Given the description of an element on the screen output the (x, y) to click on. 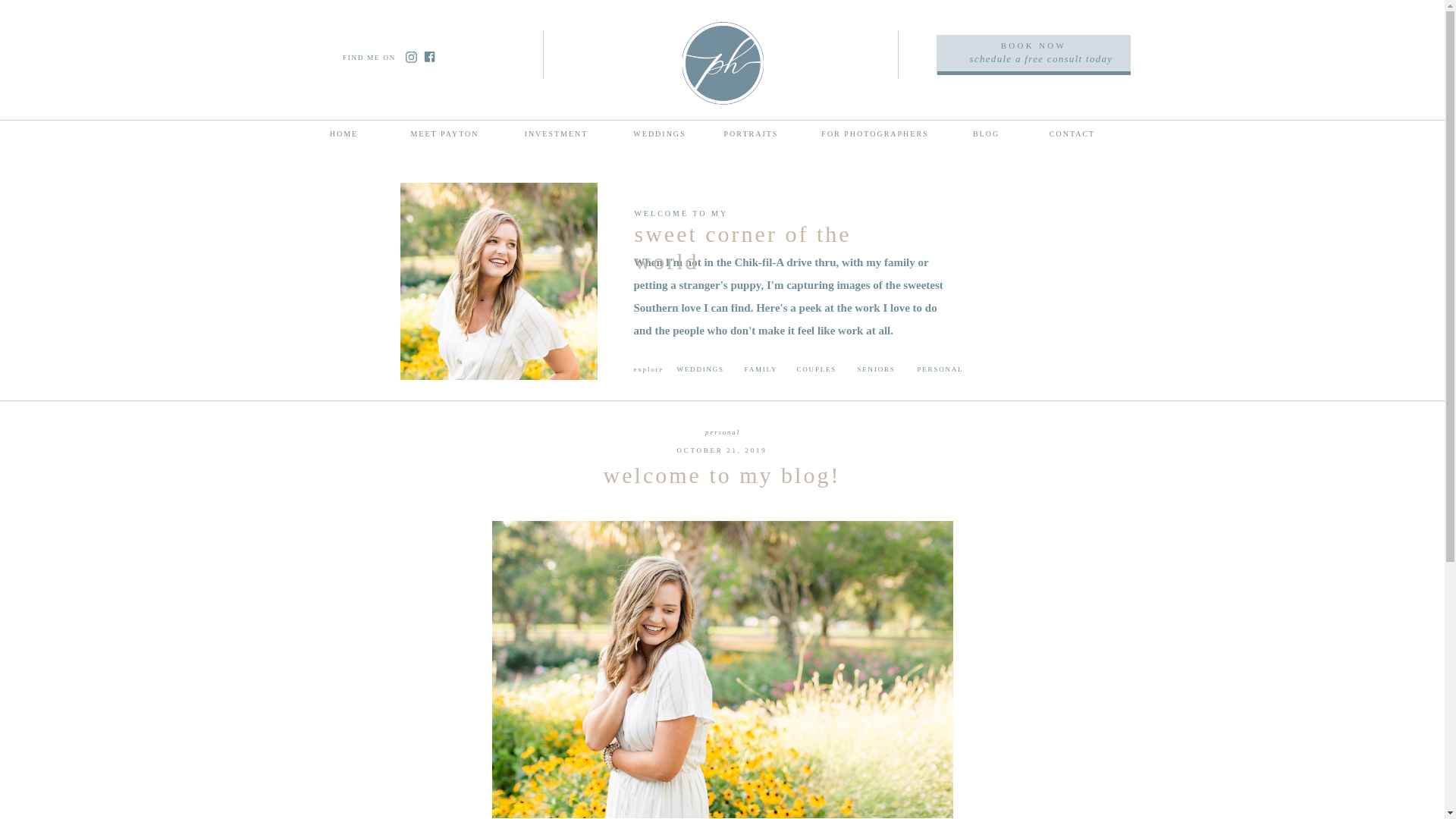
Facebook Copy-color Created with Sketch. (429, 56)
Facebook Copy-color Created with Sketch. (428, 56)
PERSONAL (957, 373)
Instagram-color Created with Sketch. (410, 57)
WEDDINGS (659, 132)
INVESTMENT (555, 132)
FIND ME ON (372, 56)
FAMILY (777, 373)
BLOG (985, 132)
COUPLES (826, 373)
